Given the description of an element on the screen output the (x, y) to click on. 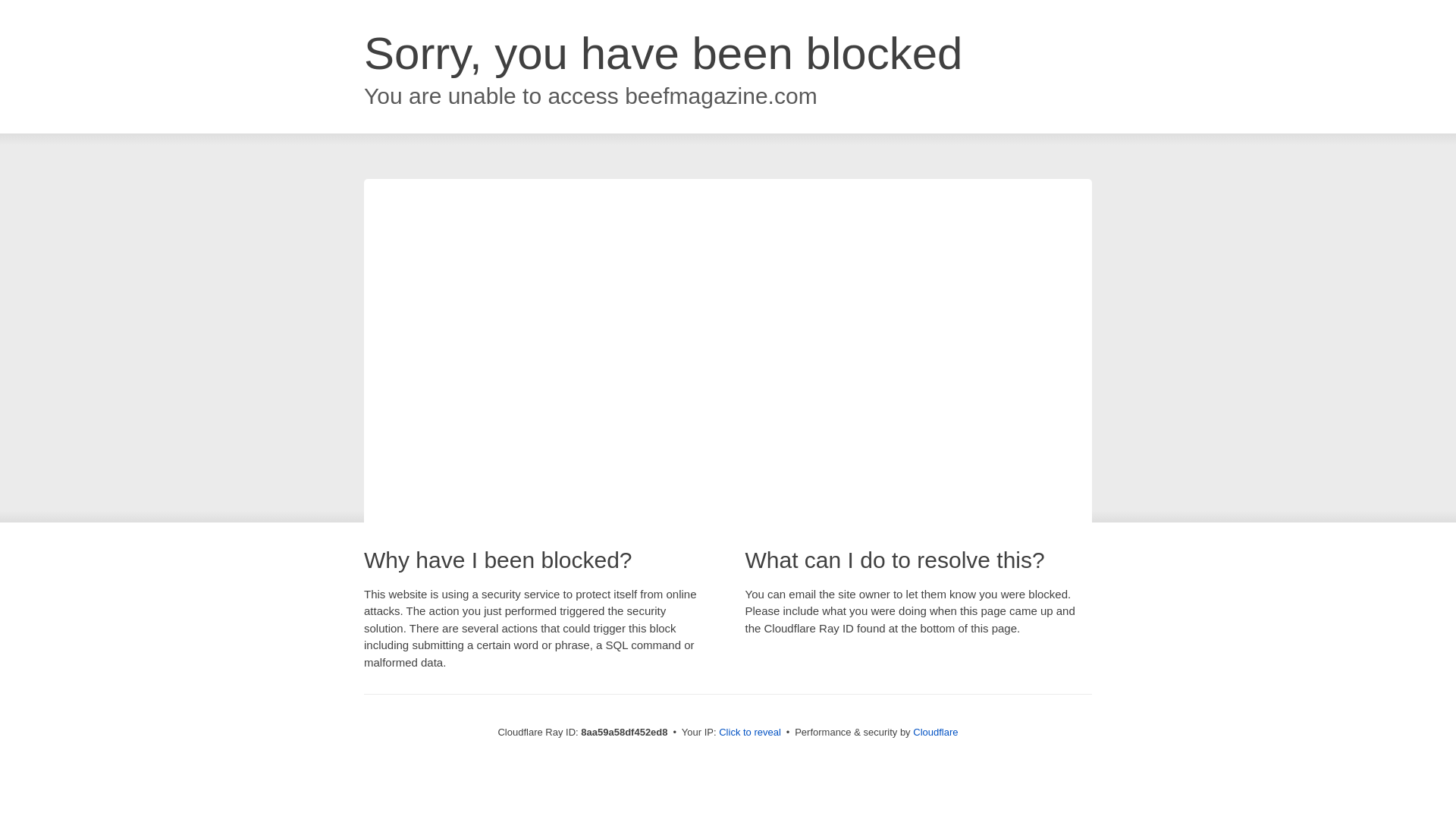
Cloudflare (935, 731)
Click to reveal (749, 732)
